Given the description of an element on the screen output the (x, y) to click on. 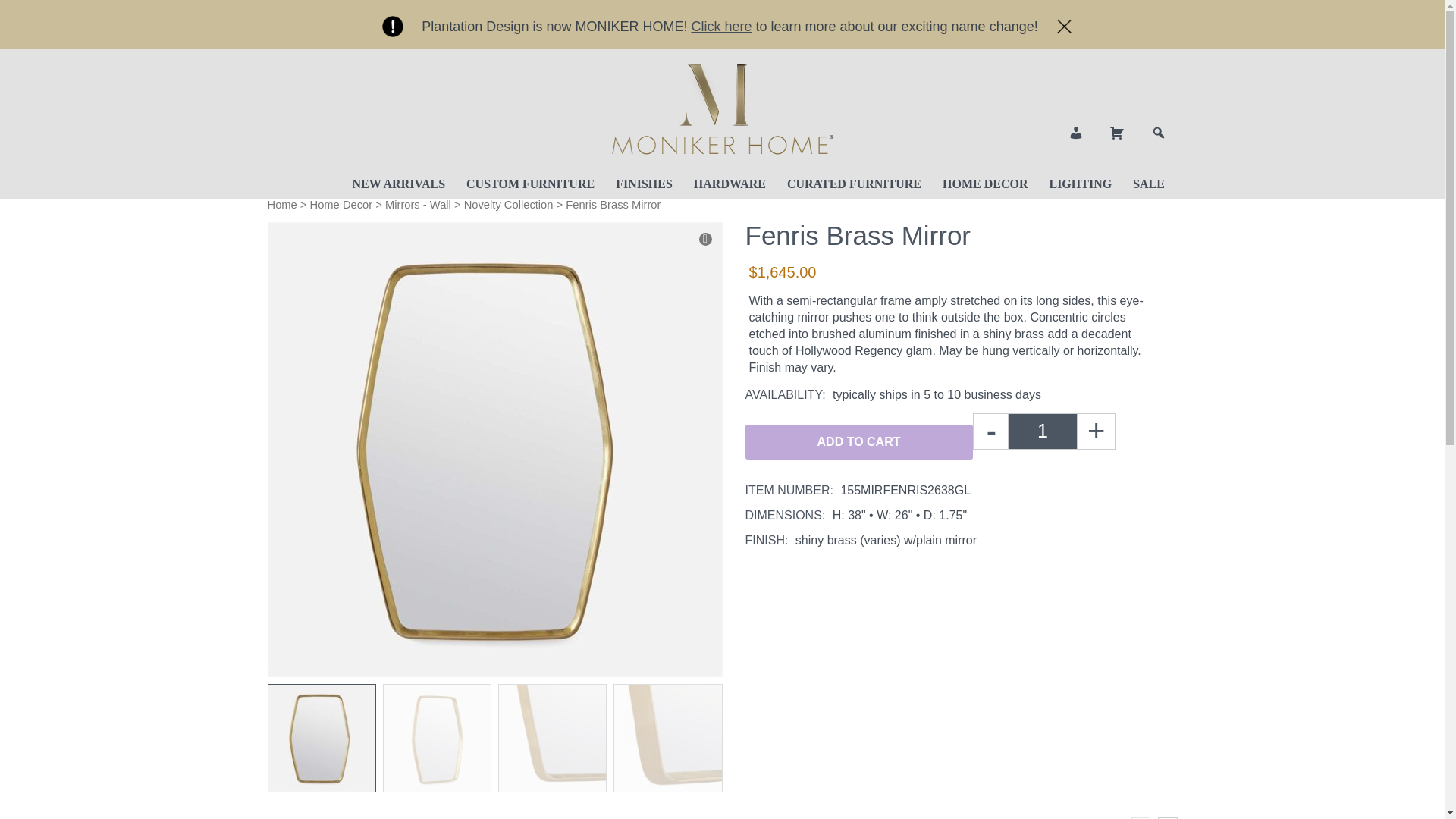
Click here (720, 26)
NEW ARRIVALS (398, 183)
CUSTOM FURNITURE (529, 183)
1 (1042, 431)
